Given the description of an element on the screen output the (x, y) to click on. 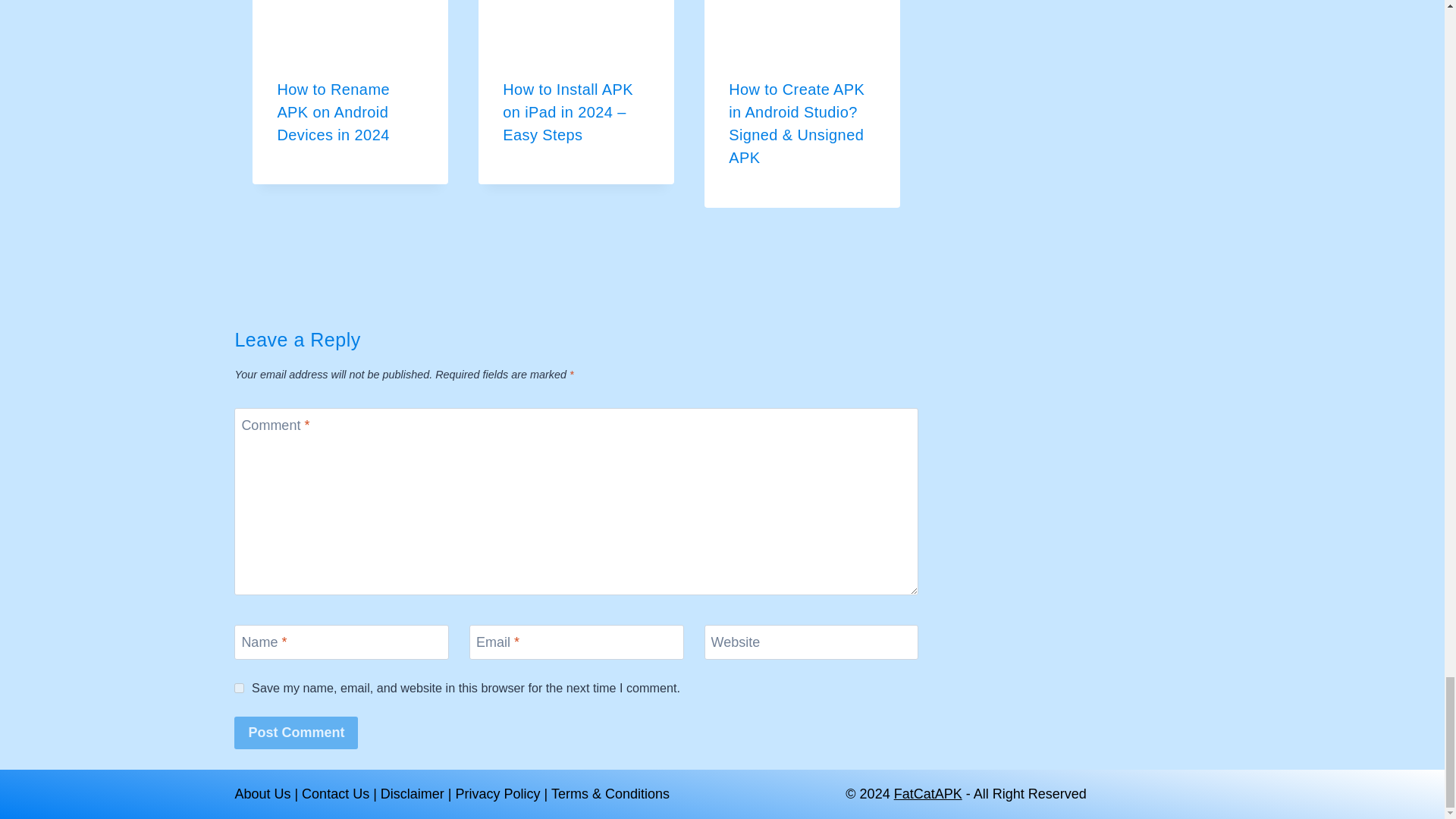
yes (239, 687)
Post Comment (296, 732)
How to Rename APK on Android Devices in 2024 (333, 112)
